Given the description of an element on the screen output the (x, y) to click on. 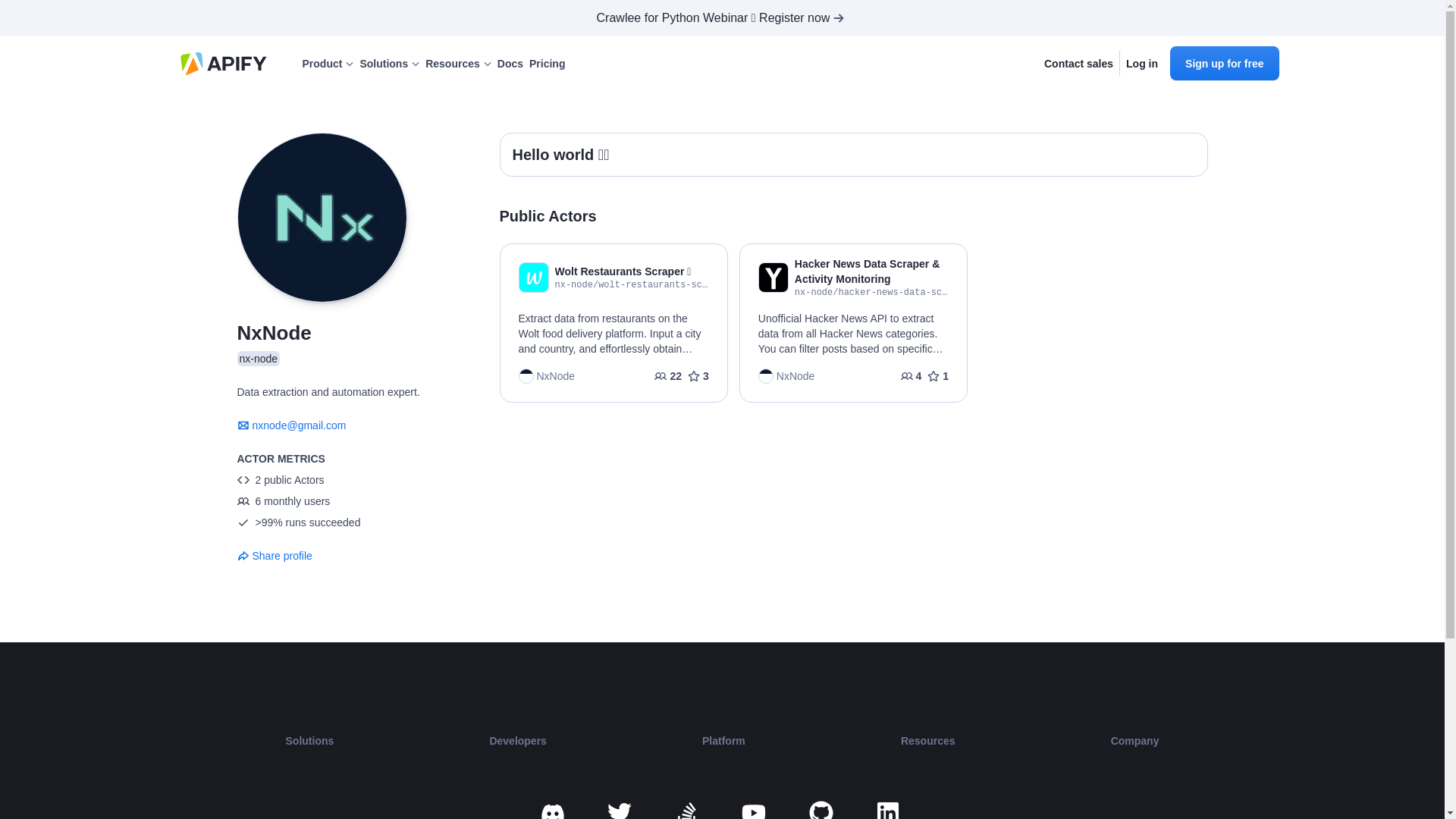
Product (327, 63)
Docs (509, 63)
Resources (458, 63)
Solutions (389, 63)
Pricing (546, 63)
Sign up for free (1224, 62)
Contact sales (1078, 63)
Log in (1141, 63)
